Given the description of an element on the screen output the (x, y) to click on. 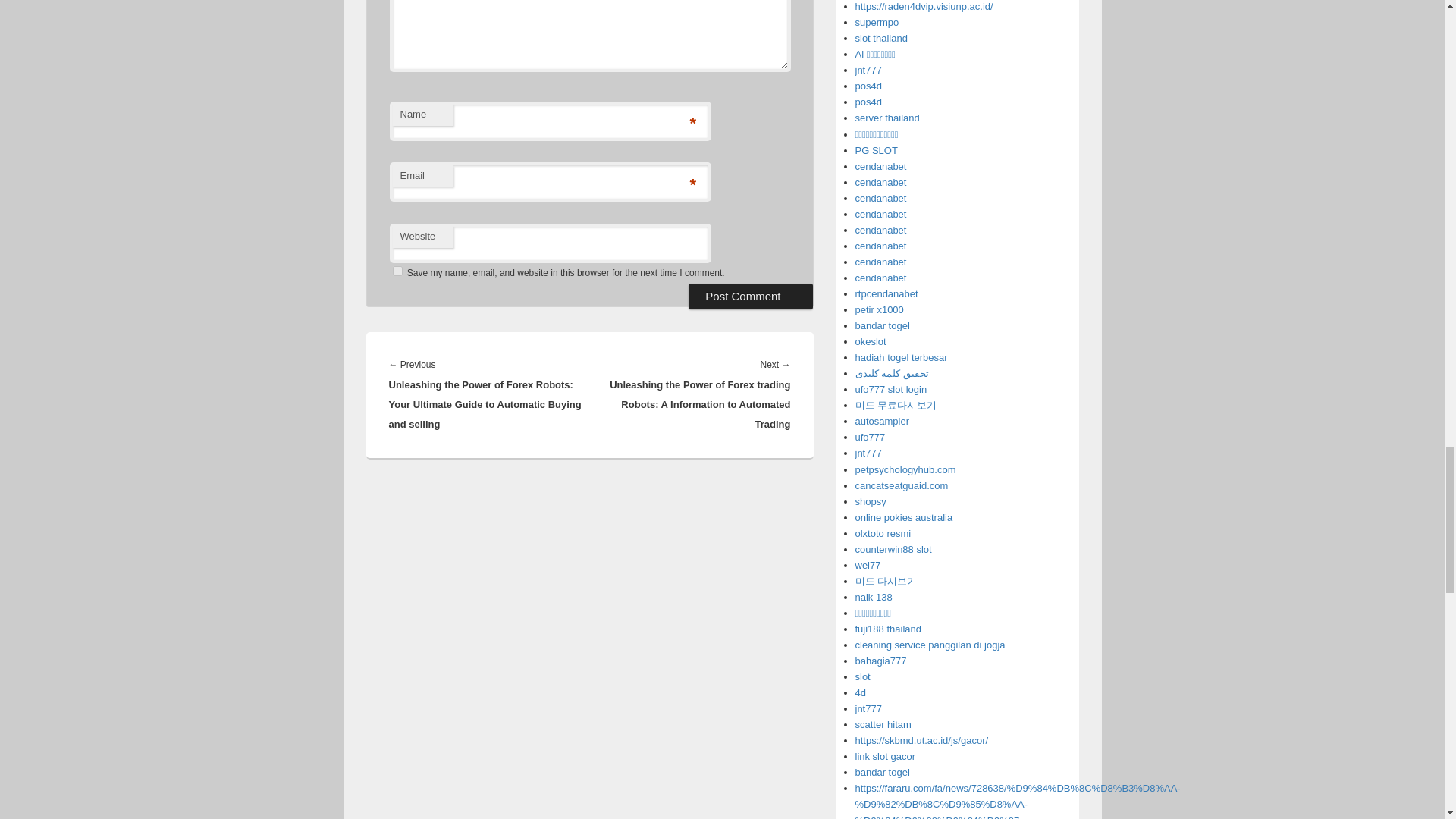
Post Comment (750, 296)
yes (398, 271)
Post Comment (750, 296)
